Given the description of an element on the screen output the (x, y) to click on. 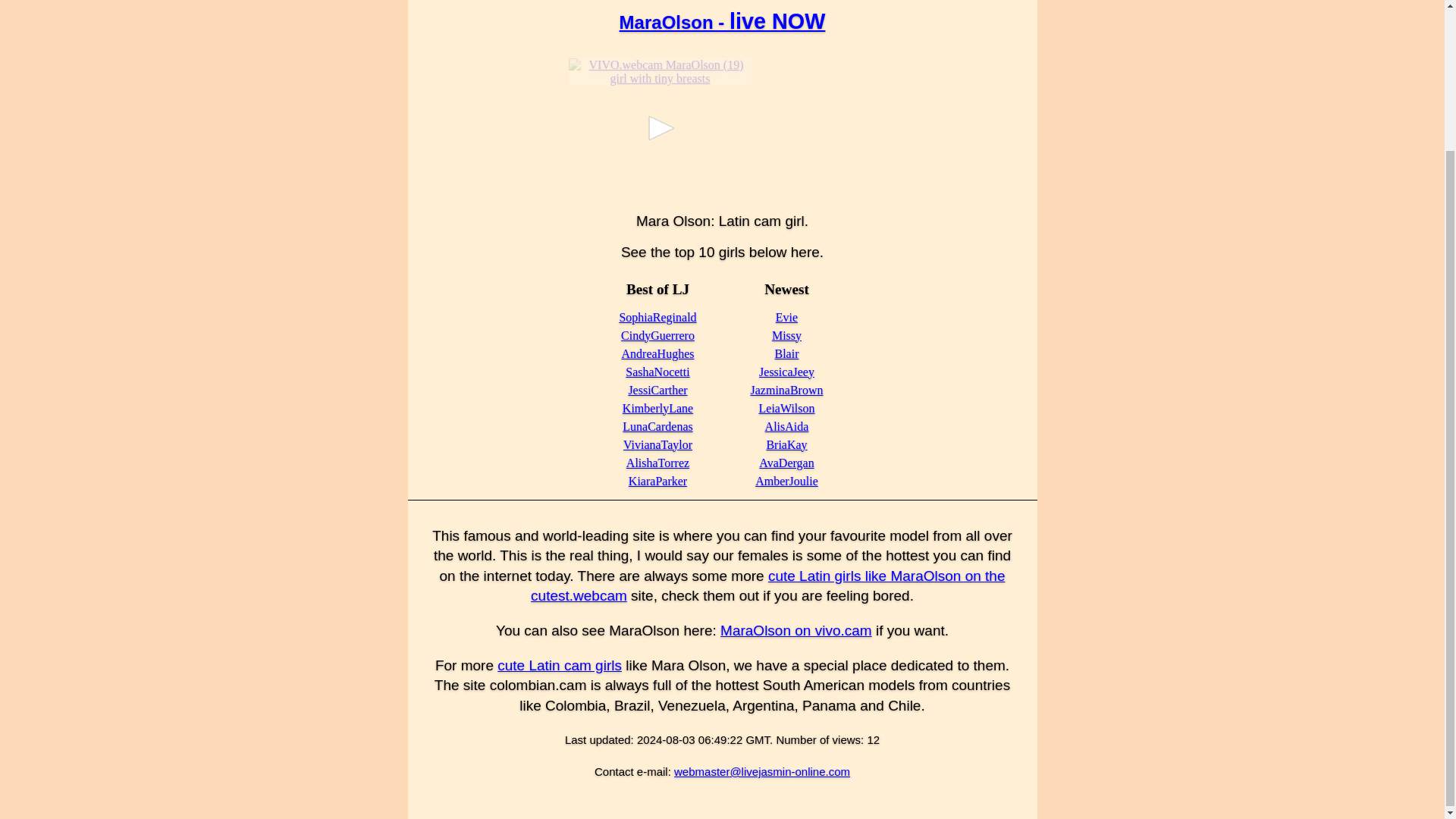
VivianaTaylor (658, 444)
LunaCardenas (658, 426)
cute Latin girls like MaraOlson on the cutest.webcam (767, 586)
KiaraParker (657, 481)
CindyGuerrero (657, 335)
JessicaJeey (785, 371)
JessiCarther (657, 390)
AvaDergan (785, 462)
Missy (786, 335)
MaraOlson on vivo.cam (796, 630)
AmberJoulie (786, 481)
SashaNocetti (657, 371)
BriaKay (785, 444)
AndreaHughes (657, 353)
